Given the description of an element on the screen output the (x, y) to click on. 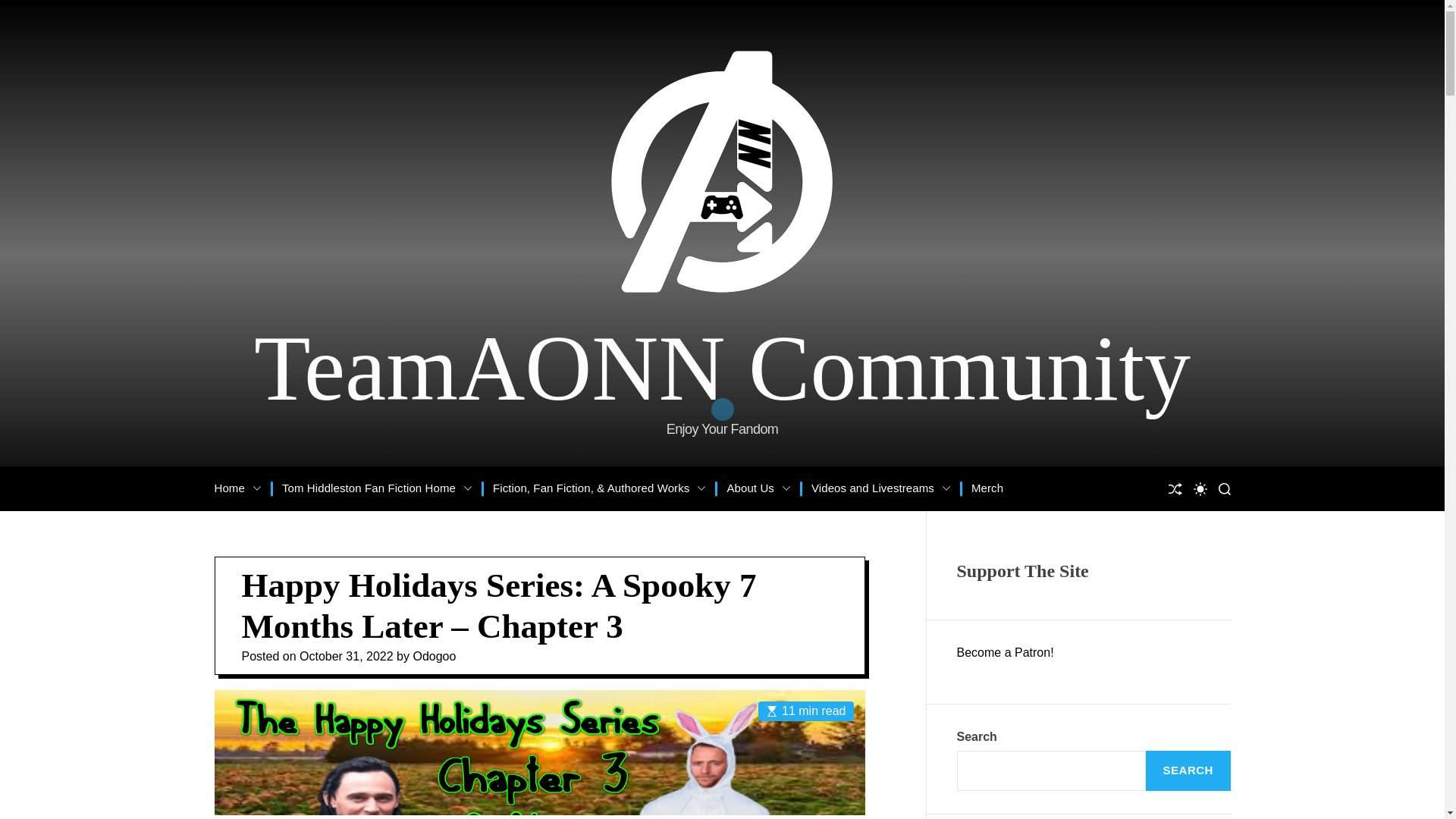
Home (237, 488)
Tom Hiddleston Fan Fiction Home (376, 488)
TeamAONN Community (722, 368)
